Given the description of an element on the screen output the (x, y) to click on. 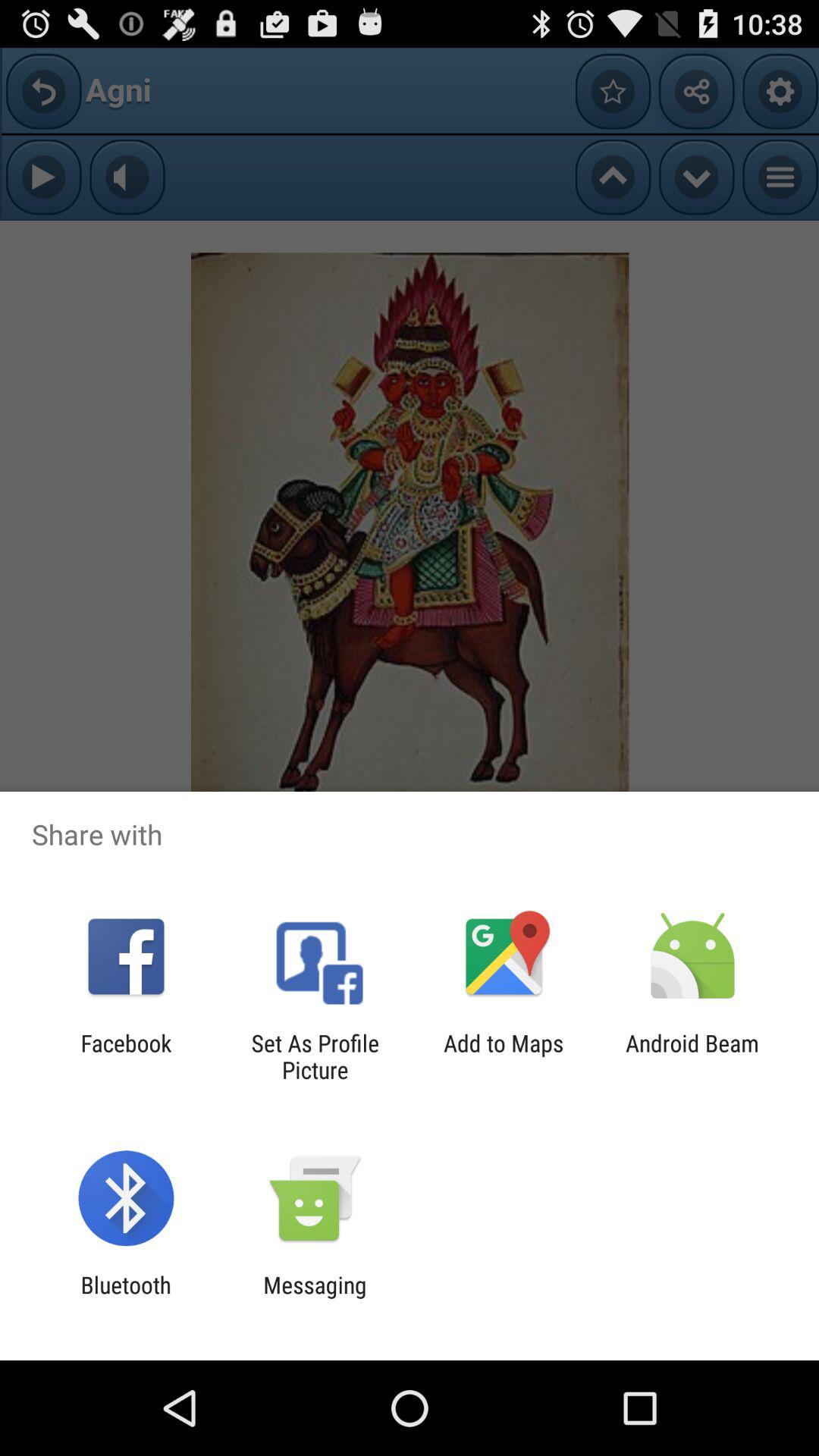
tap the app next to the bluetooth item (314, 1298)
